Given the description of an element on the screen output the (x, y) to click on. 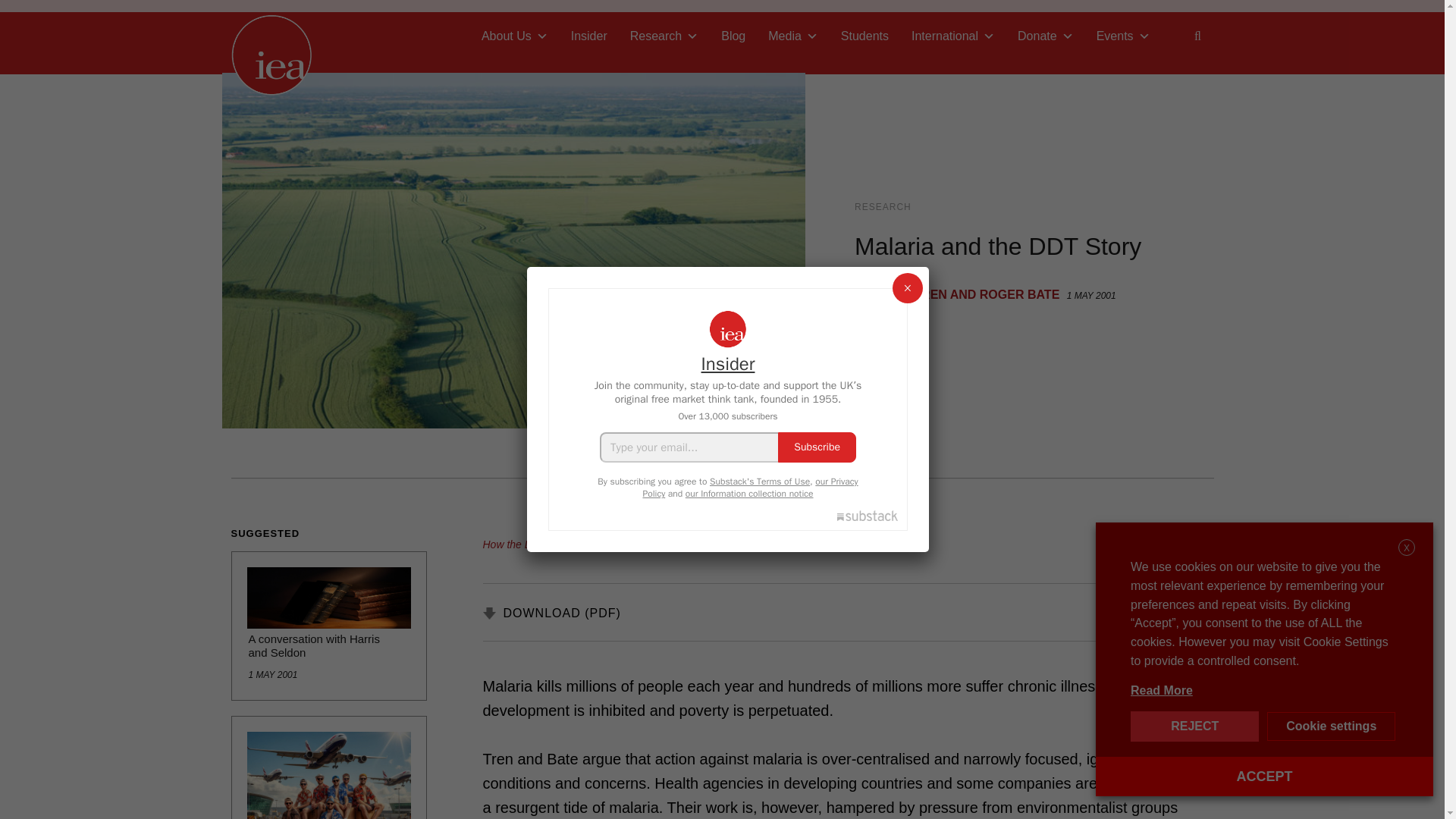
Research (664, 36)
Blog (733, 36)
Close and Accept (1406, 547)
About Us (514, 36)
Insider (588, 36)
Students (864, 36)
Donate (1045, 36)
International (952, 36)
Media (793, 36)
